Given the description of an element on the screen output the (x, y) to click on. 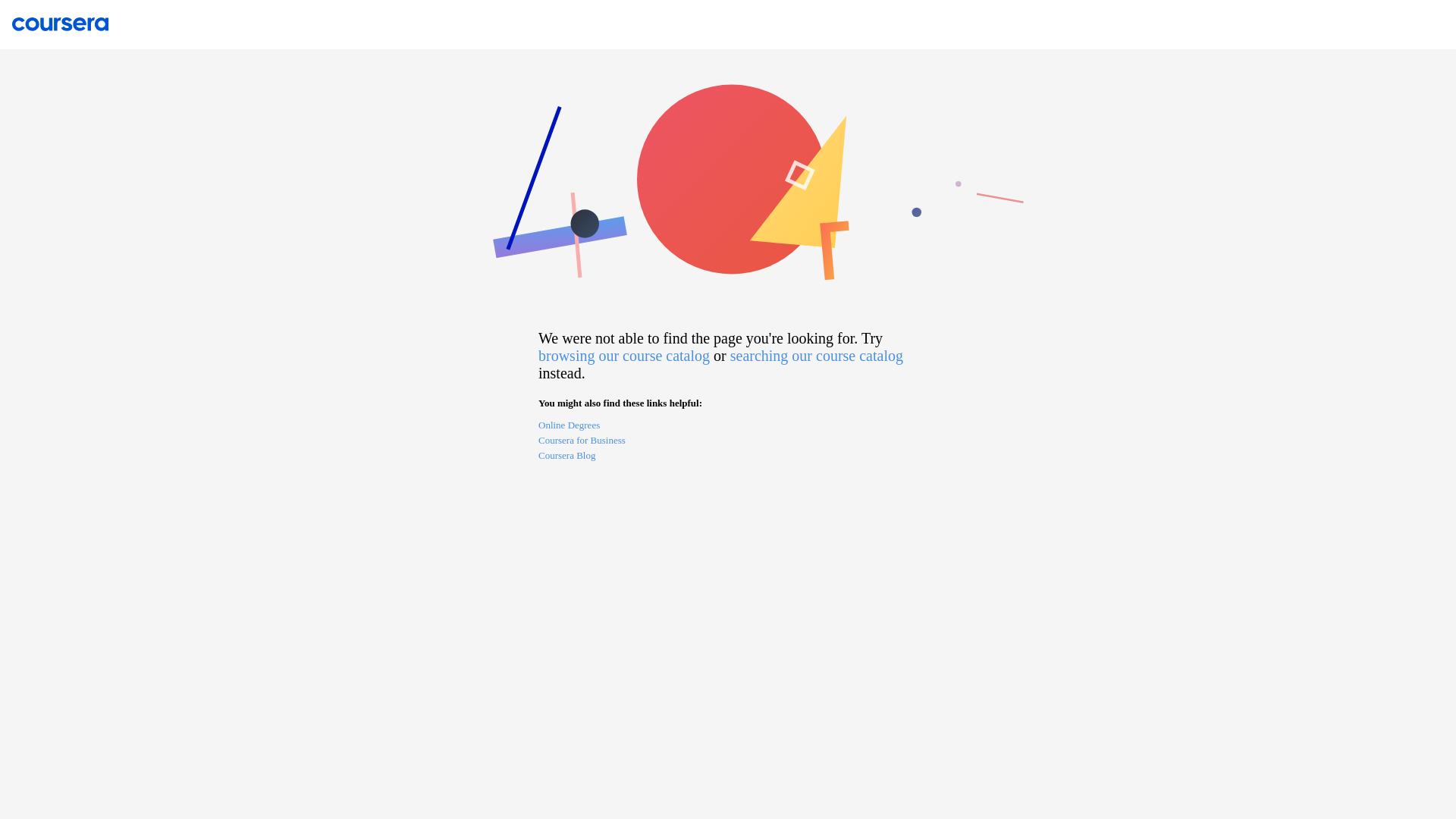
browsing our course catalog (624, 355)
Coursera for Business (727, 441)
Coursera Blog (727, 457)
searching our course catalog (816, 355)
Online Degrees (727, 426)
